Given the description of an element on the screen output the (x, y) to click on. 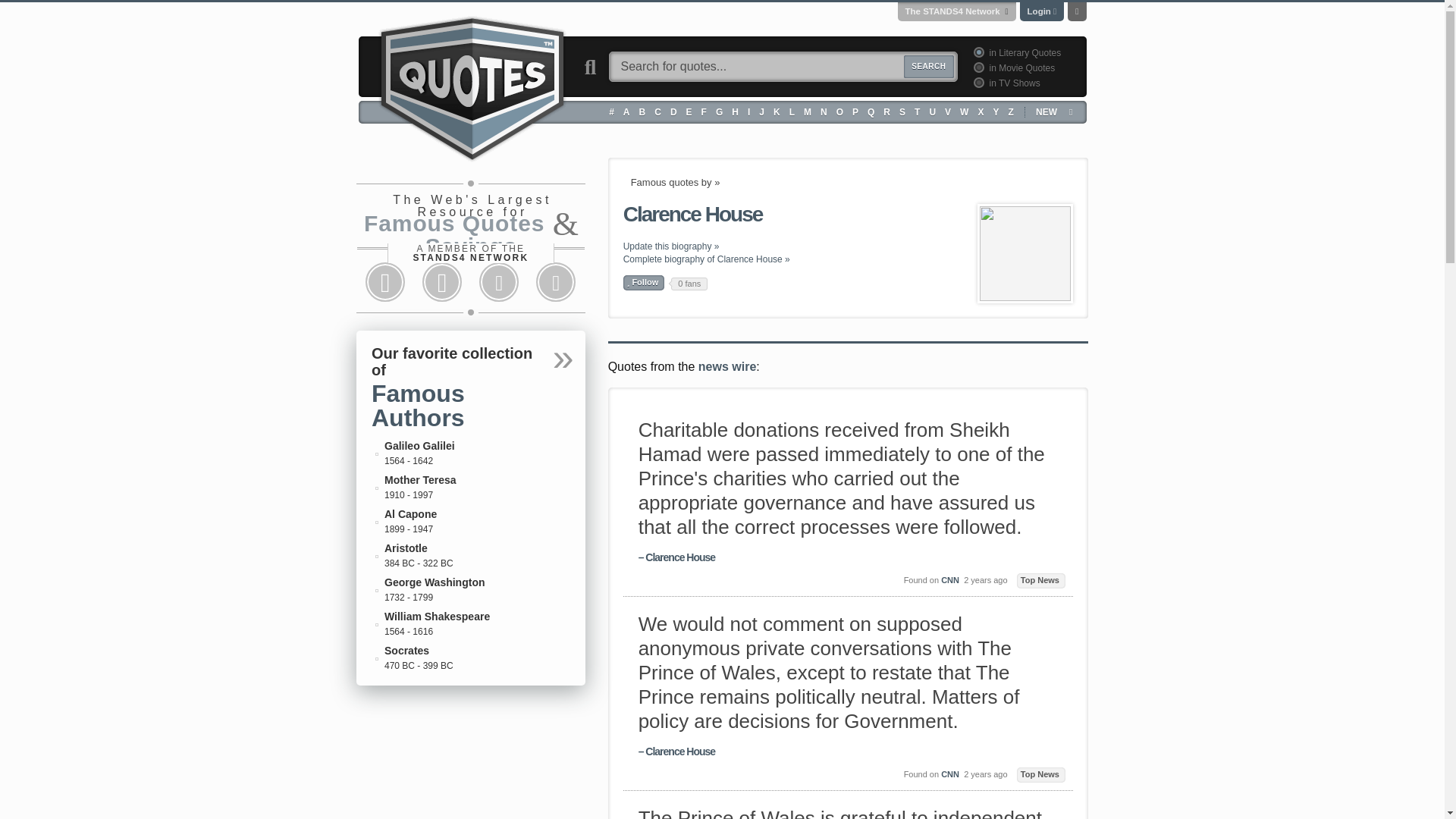
2 (976, 67)
Quotes.net (471, 86)
click to add your vote (644, 282)
4 (976, 81)
Share this page on Reddit (498, 282)
Login (1039, 10)
Share this page on Facebook (384, 282)
Clarence House (1024, 253)
Share this page with AddToAny (556, 282)
SEARCH (928, 66)
Share this page on Twitter (441, 282)
1 (976, 51)
